Given the description of an element on the screen output the (x, y) to click on. 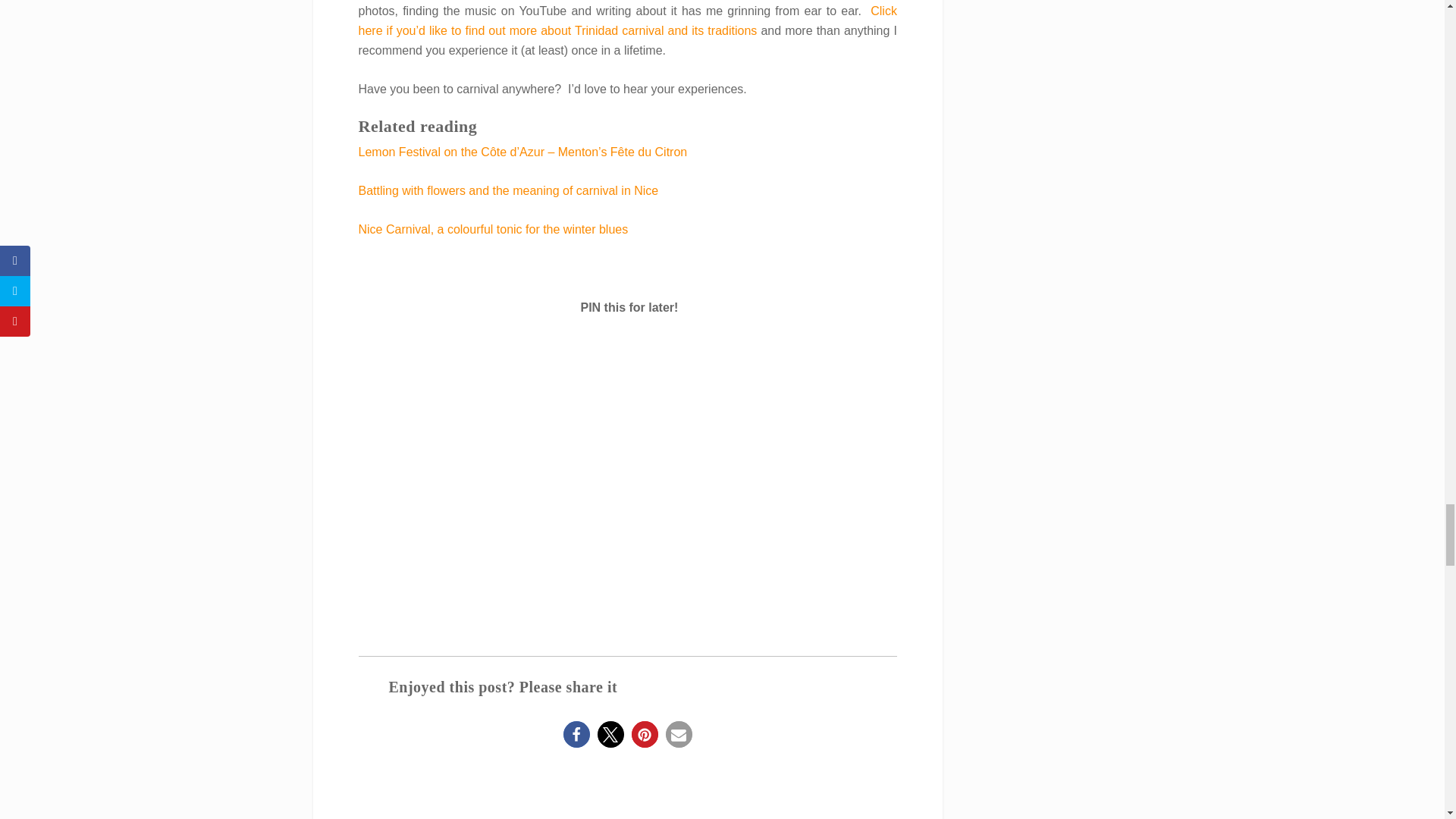
Send by email (679, 733)
Share on X (610, 733)
Share on Facebook (576, 733)
Nice Carnival, a colourful tonic for the winter blues (492, 228)
Pin it on Pinterest (644, 733)
Battling with flowers and the meaning of carnival in Nice (508, 190)
